Given the description of an element on the screen output the (x, y) to click on. 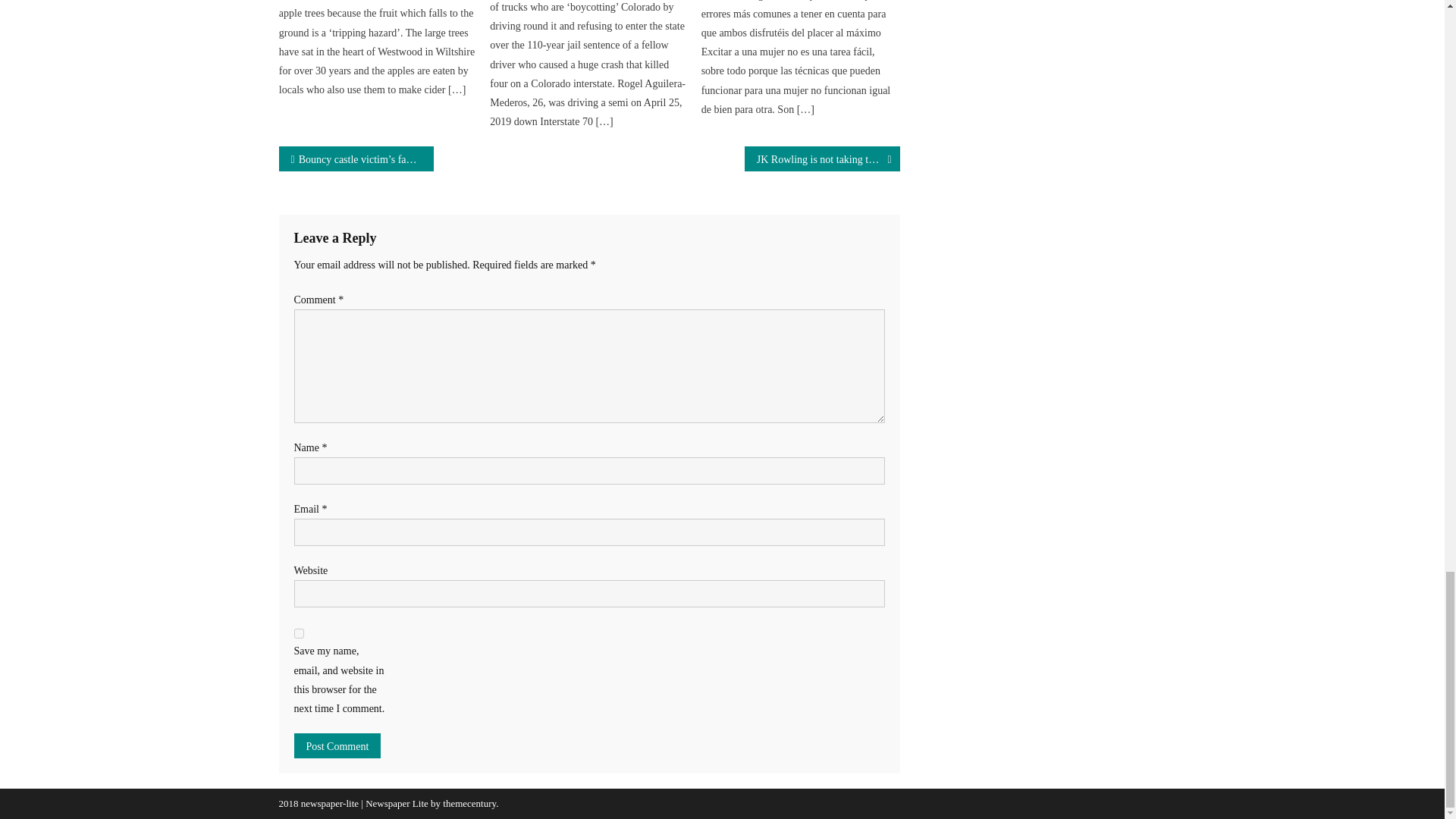
yes (299, 633)
Post Comment (337, 745)
Post Comment (337, 745)
